Given the description of an element on the screen output the (x, y) to click on. 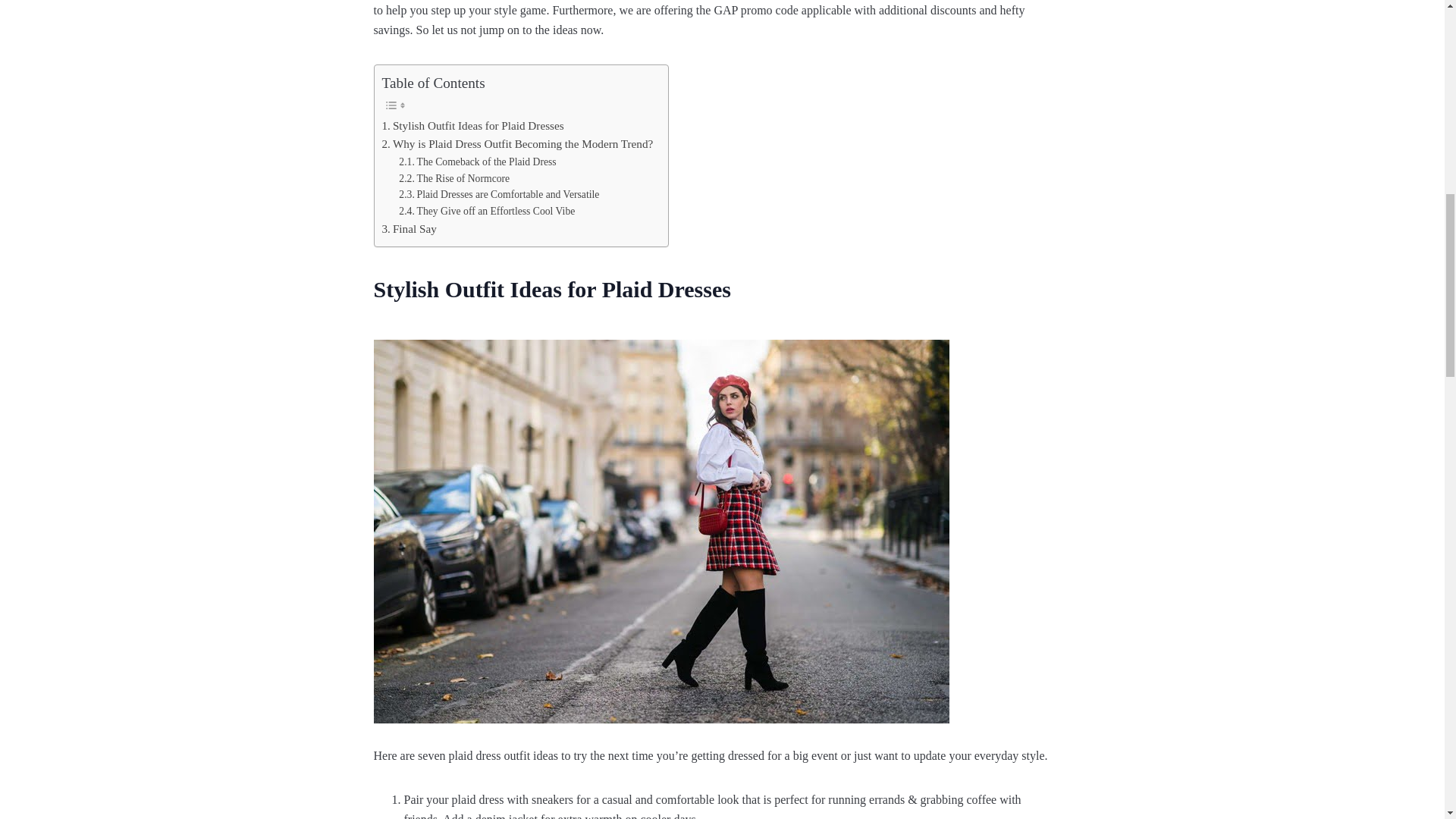
Stylish Outfit Ideas for Plaid Dresses (472, 126)
They Give off an Effortless Cool Vibe (486, 211)
Plaid Dresses are Comfortable and Versatile (498, 194)
Stylish Outfit Ideas for Plaid Dresses (472, 126)
Why is Plaid Dress Outfit Becoming the Modern Trend? (517, 144)
Final Say (408, 229)
Final Say (408, 229)
The Rise of Normcore (453, 178)
The Comeback of the Plaid Dress (477, 161)
The Comeback of the Plaid Dress (477, 161)
The Rise of Normcore (453, 178)
They Give off an Effortless Cool Vibe (486, 211)
Why is Plaid Dress Outfit Becoming the Modern Trend? (517, 144)
Plaid Dresses are Comfortable and Versatile (498, 194)
